Given the description of an element on the screen output the (x, y) to click on. 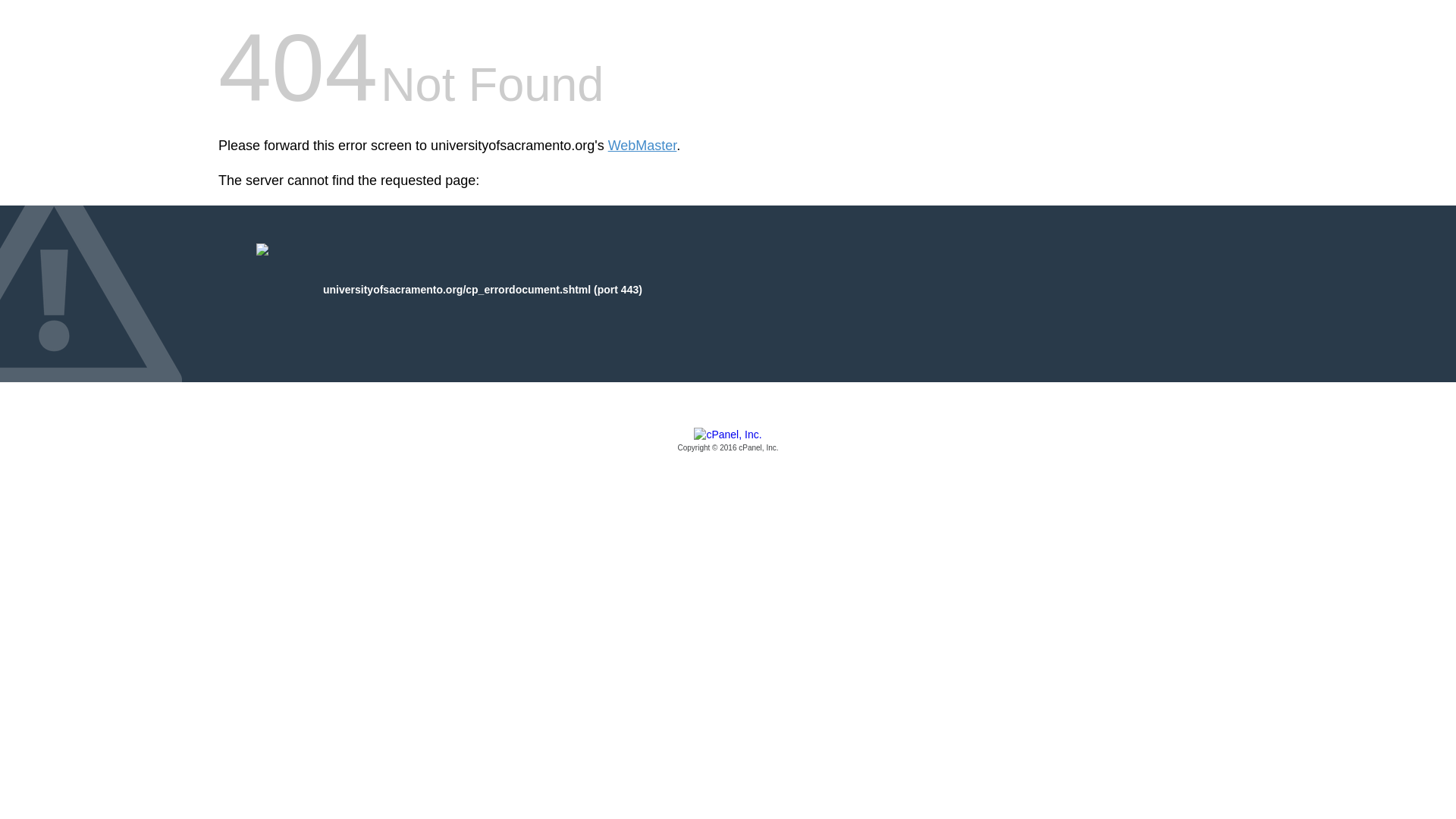
cPanel, Inc. (727, 440)
WebMaster (642, 145)
